Given the description of an element on the screen output the (x, y) to click on. 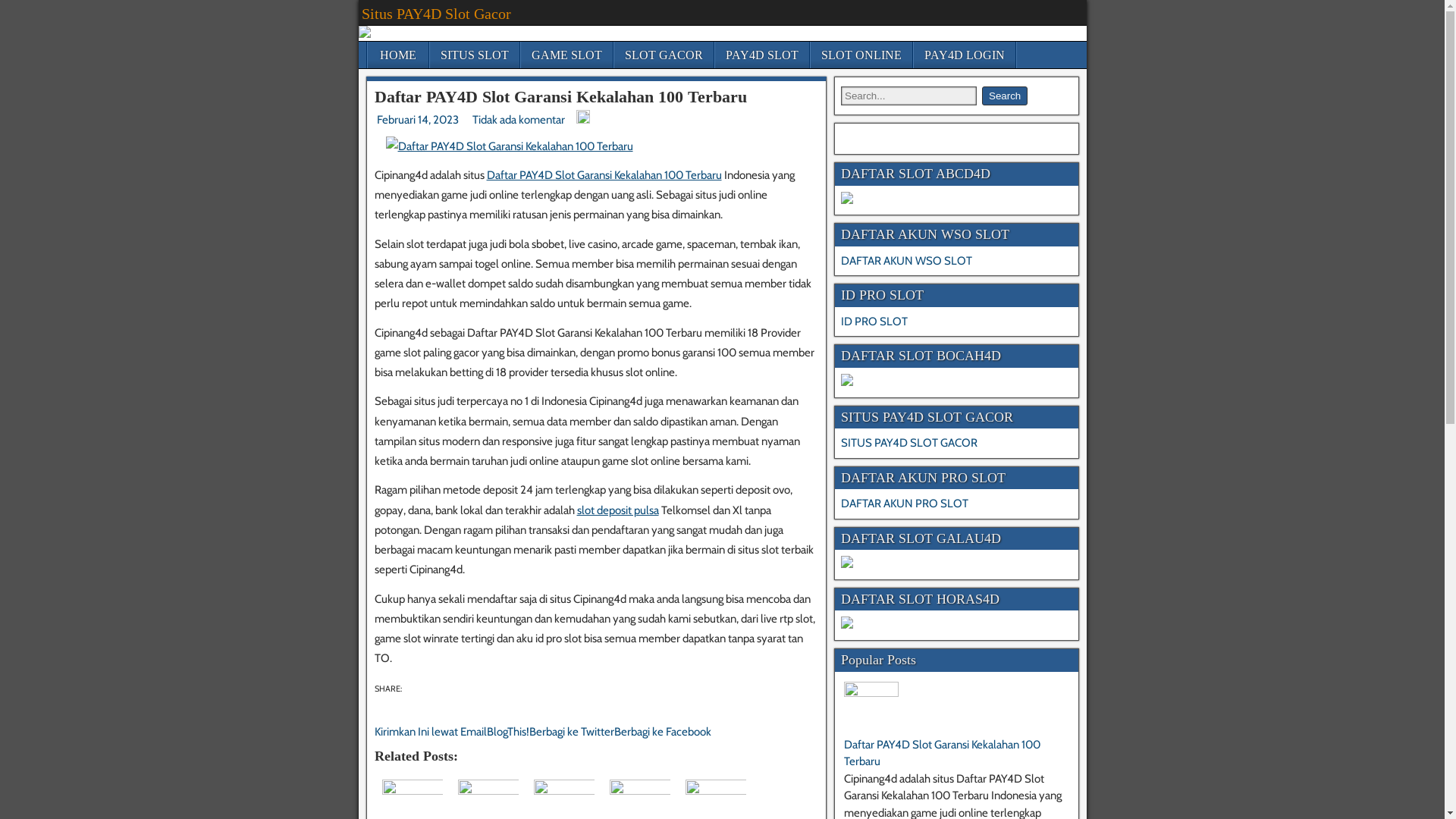
SLOT GACOR Element type: text (663, 54)
DAFTAR AKUN WSO SLOT Element type: text (906, 260)
ID PRO SLOT Element type: text (873, 321)
Search for: Element type: hover (908, 95)
Share this on Google+ Element type: hover (420, 688)
PAY4D SLOT Element type: text (761, 54)
Berbagi ke Facebook Element type: text (662, 731)
Search Element type: text (1004, 95)
Situs PAY4D Slot Gacor Element type: text (435, 14)
BlogThis! Element type: text (507, 731)
Daftar PAY4D Slot Garansi Kekalahan 100 Terbaru Element type: text (942, 752)
Share this on Facebook Element type: hover (405, 688)
GAME SLOT Element type: text (565, 54)
Tidak ada komentar Element type: text (518, 119)
Daftar PAY4D Slot Garansi Kekalahan 100 Terbaru Element type: text (603, 175)
Edit Entri Element type: hover (582, 119)
Daftar PAY4D Slot Garansi Kekalahan 100 Terbaru Element type: hover (508, 146)
Berbagi ke Twitter Element type: text (571, 731)
SITUS PAY4D SLOT GACOR Element type: text (908, 442)
Daftar PAY4D Slot Garansi Kekalahan 100 Terbaru Element type: text (560, 96)
Februari 14, 2023 Element type: text (417, 119)
SITUS SLOT Element type: text (473, 54)
DAFTAR AKUN PRO SLOT Element type: text (904, 503)
PAY4D LOGIN Element type: text (963, 54)
slot deposit pulsa Element type: text (617, 510)
HOME Element type: text (397, 54)
Tweet This! Element type: hover (413, 688)
SLOT ONLINE Element type: text (860, 54)
Kirimkan Ini lewat Email Element type: text (430, 731)
